Given the description of an element on the screen output the (x, y) to click on. 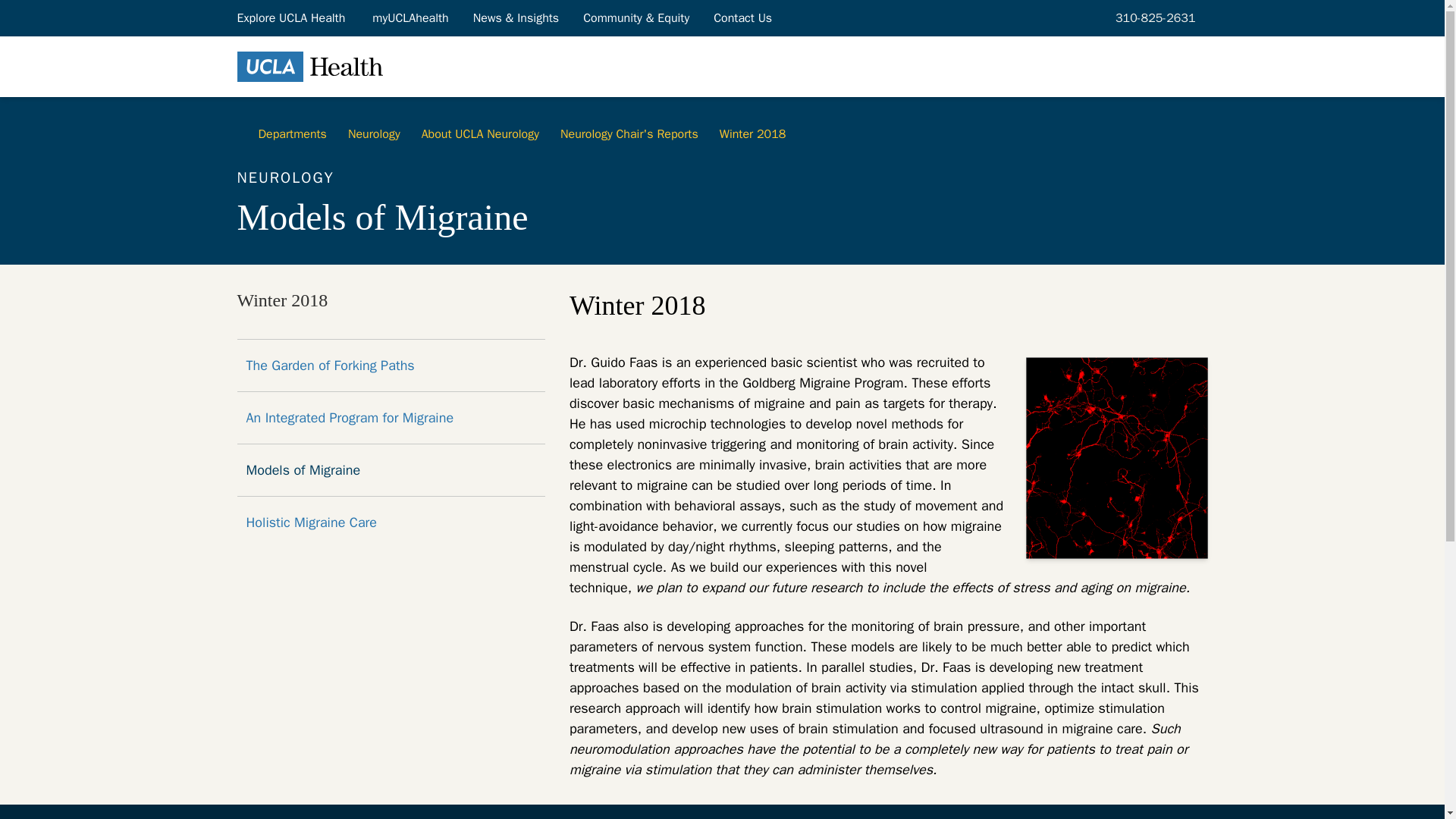
Explore UCLA Health (291, 17)
myUCLAhealth (409, 17)
Contact Us (742, 17)
myUCLAhealth Login. (409, 17)
Winter 2018 (281, 300)
310-825-2631 (1152, 17)
